Given the description of an element on the screen output the (x, y) to click on. 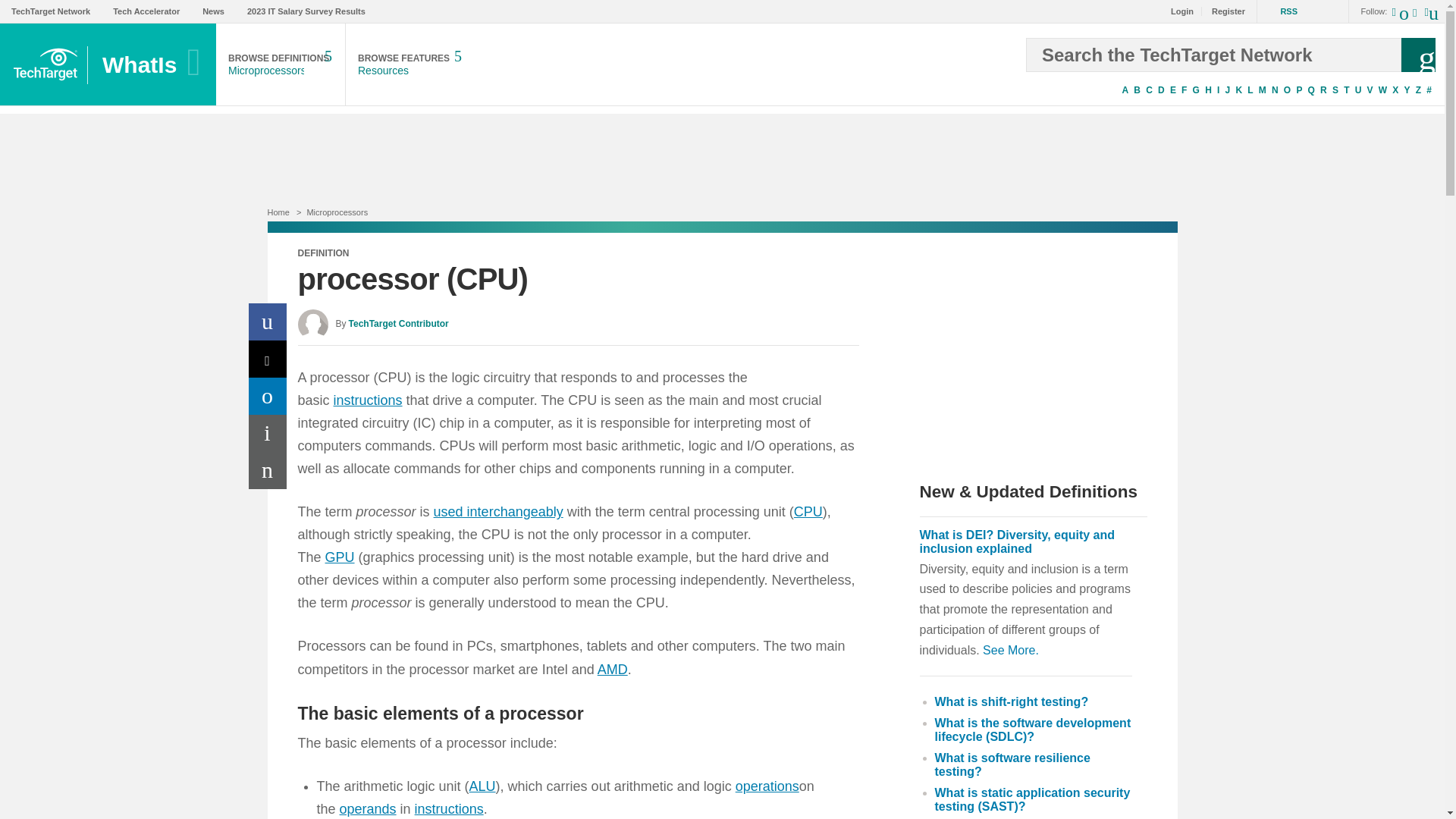
RSS (1277, 10)
M (1261, 90)
Tech Accelerator (146, 10)
N (1274, 90)
Register (1224, 10)
B (1136, 90)
Share on X (267, 358)
2023 IT Salary Survey Results (280, 64)
TechTarget Network (306, 10)
